Given the description of an element on the screen output the (x, y) to click on. 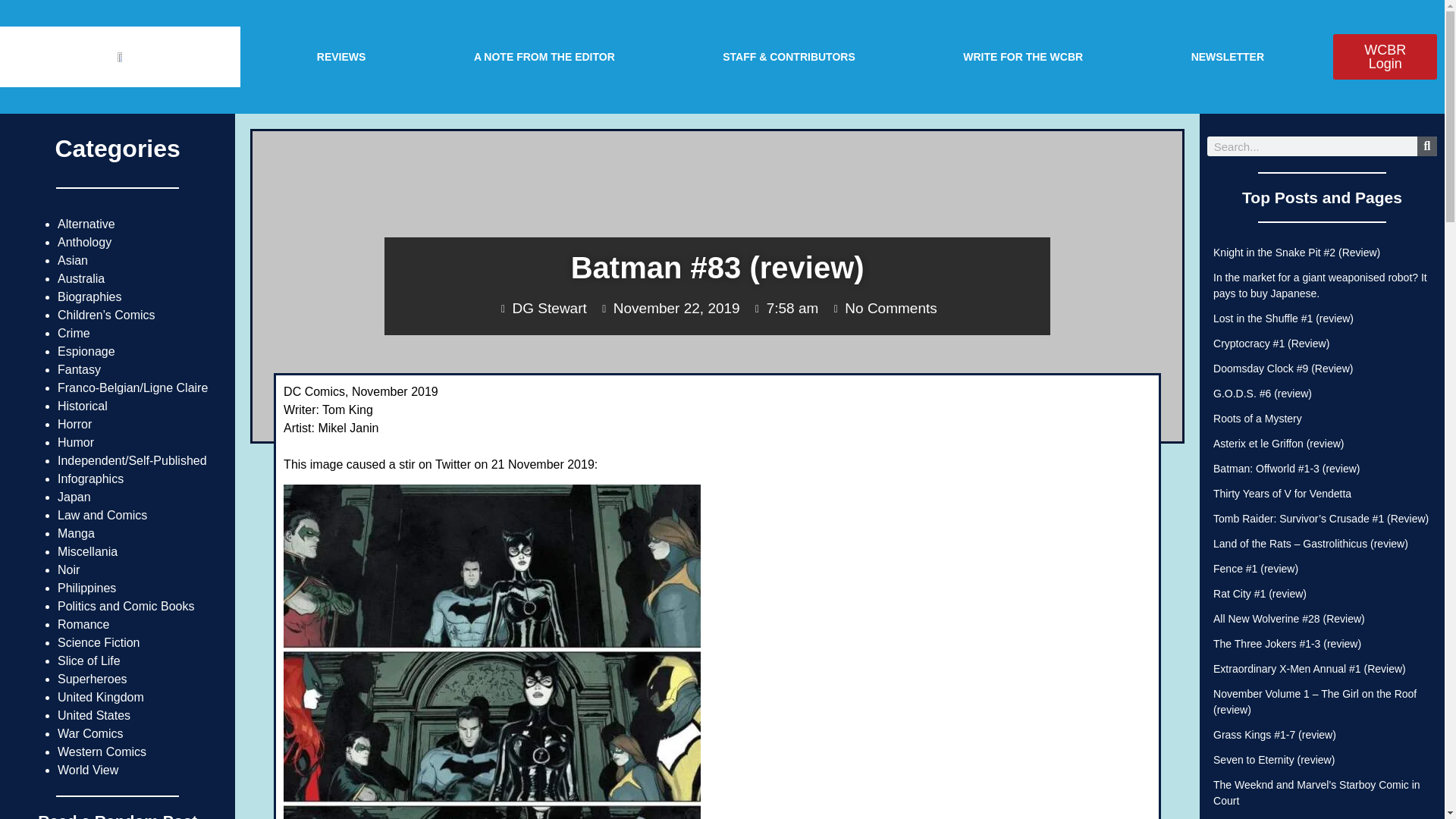
Biographies (90, 296)
Crime (74, 332)
Historical (82, 405)
A NOTE FROM THE EDITOR (544, 56)
Fantasy (79, 369)
WRITE FOR THE WCBR (1022, 56)
Alternative (86, 223)
Australia (81, 278)
Espionage (86, 350)
REVIEWS (341, 56)
